Given the description of an element on the screen output the (x, y) to click on. 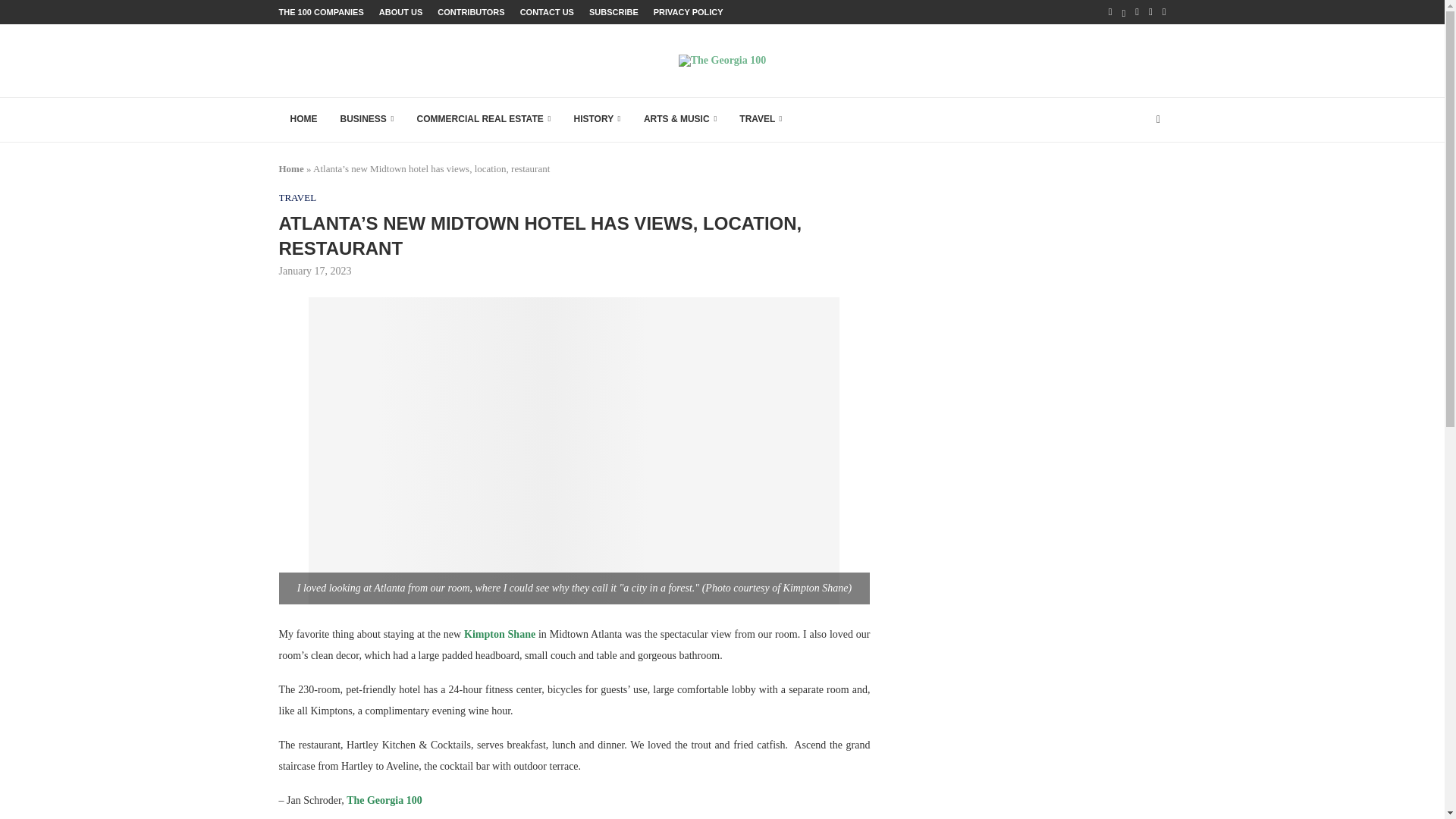
PRIVACY POLICY (688, 12)
HOME (304, 119)
ABOUT US (400, 12)
THE 100 COMPANIES (321, 12)
CONTACT US (546, 12)
SUBSCRIBE (614, 12)
BUSINESS (367, 119)
CONTRIBUTORS (470, 12)
COMMERCIAL REAL ESTATE (484, 119)
